Given the description of an element on the screen output the (x, y) to click on. 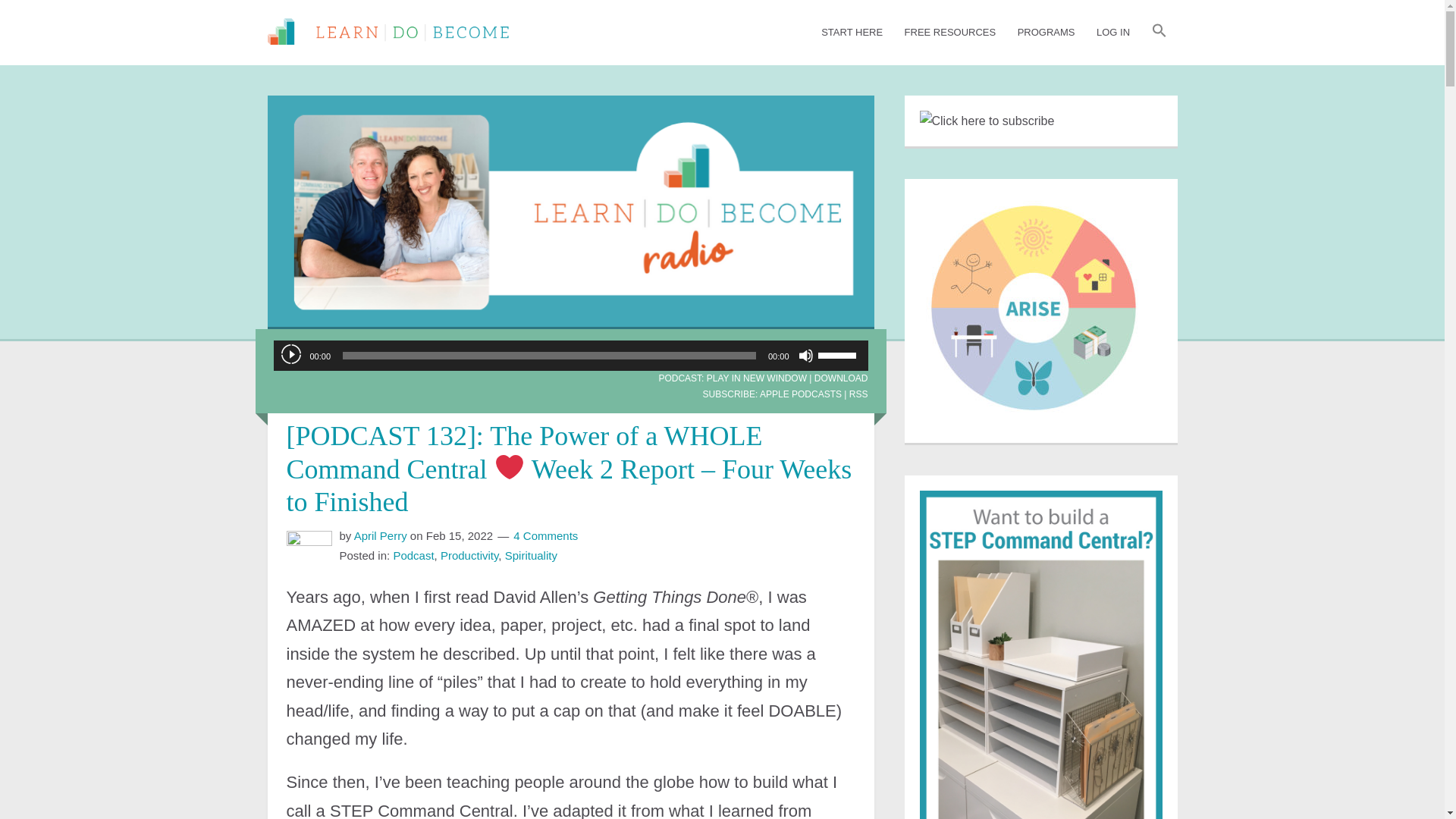
Productivity (469, 554)
PROGRAMS (1046, 32)
April Perry (380, 535)
Subscribe via RSS (857, 394)
Play (290, 353)
Subscribe on Apple Podcasts (800, 394)
Spirituality (531, 554)
Podcast (413, 554)
DOWNLOAD (840, 378)
START HERE (851, 32)
Search (1133, 35)
RSS (857, 394)
Mute (804, 355)
PLAY IN NEW WINDOW (756, 378)
4 Comments (545, 535)
